Given the description of an element on the screen output the (x, y) to click on. 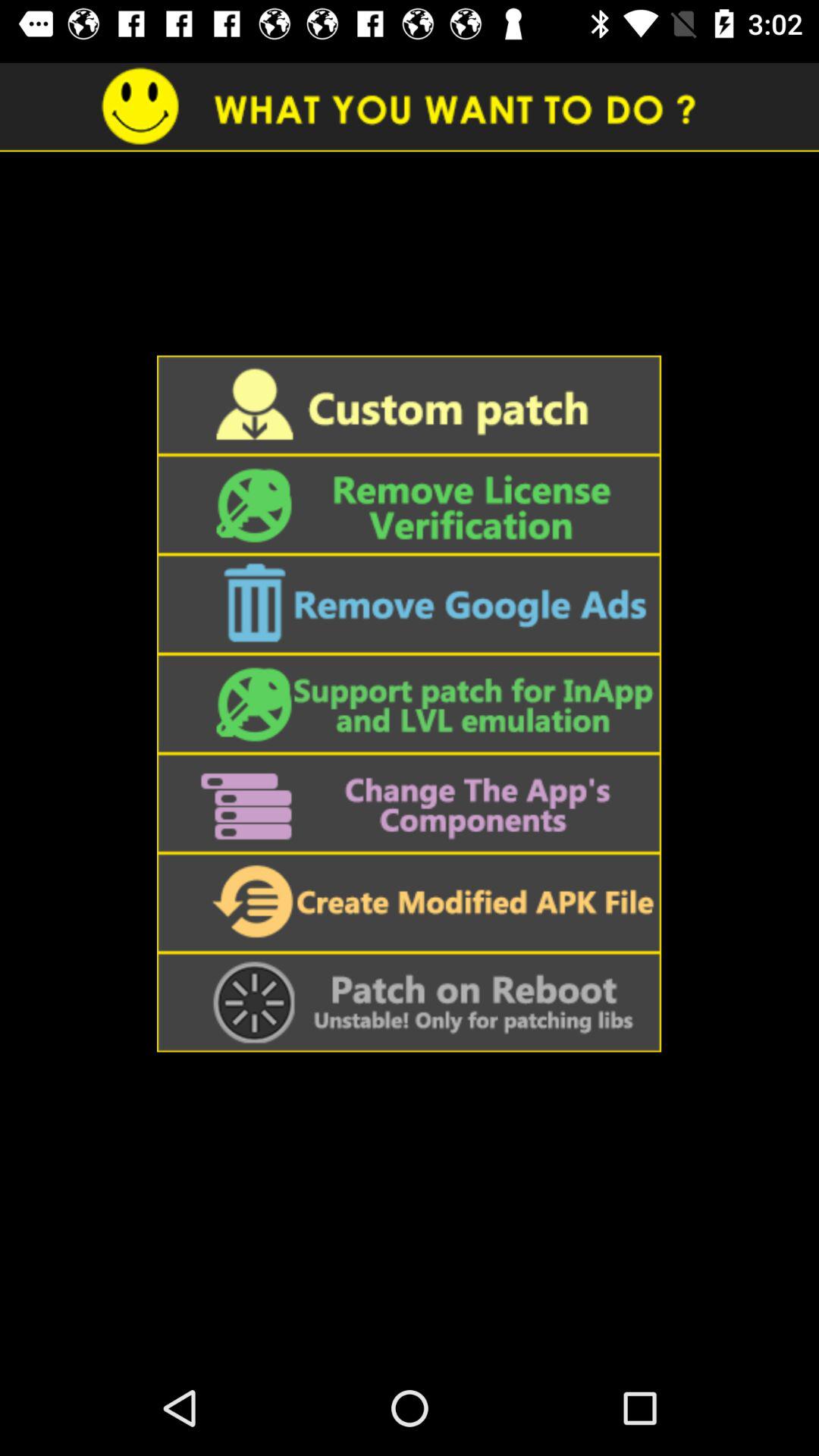
patch on reboot button (408, 1002)
